Given the description of an element on the screen output the (x, y) to click on. 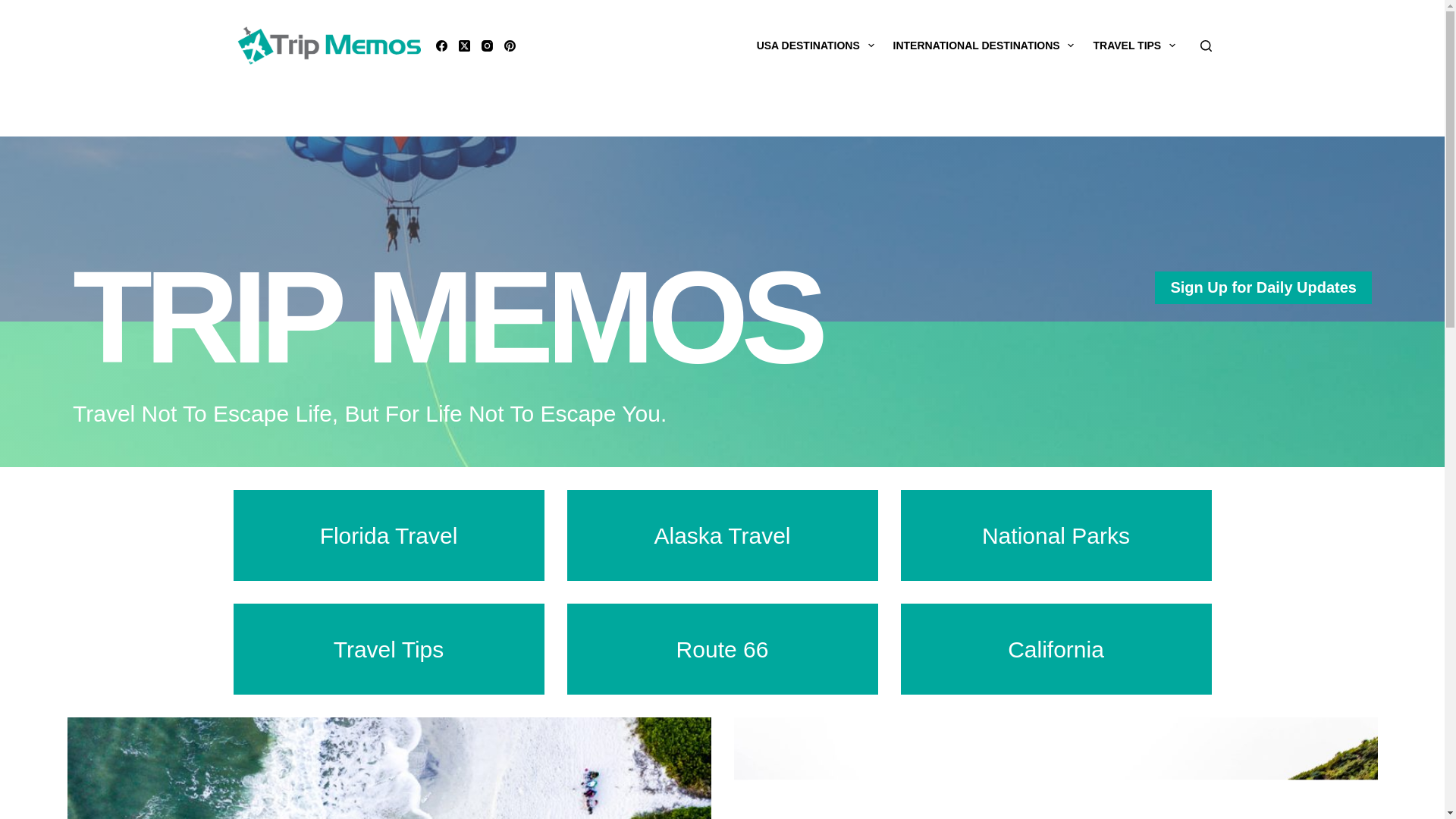
International Destinations (983, 45)
USA DESTINATIONS (814, 45)
INTERNATIONAL DESTINATIONS (983, 45)
Skip to content (15, 7)
